Given the description of an element on the screen output the (x, y) to click on. 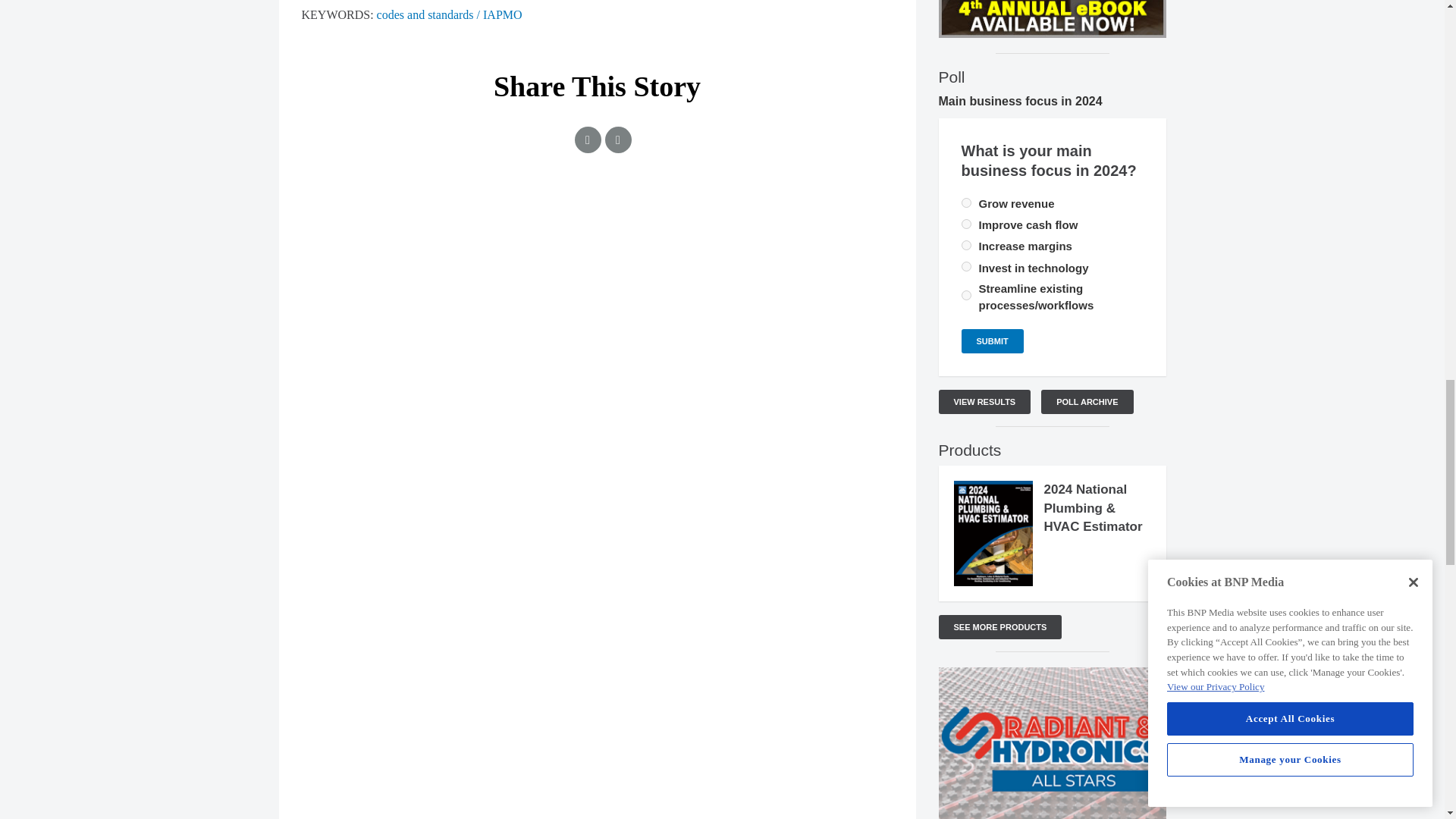
320 (965, 266)
Submit (991, 340)
318 (965, 295)
316 (965, 224)
319 (965, 203)
317 (965, 245)
Interaction questions (597, 258)
